Given the description of an element on the screen output the (x, y) to click on. 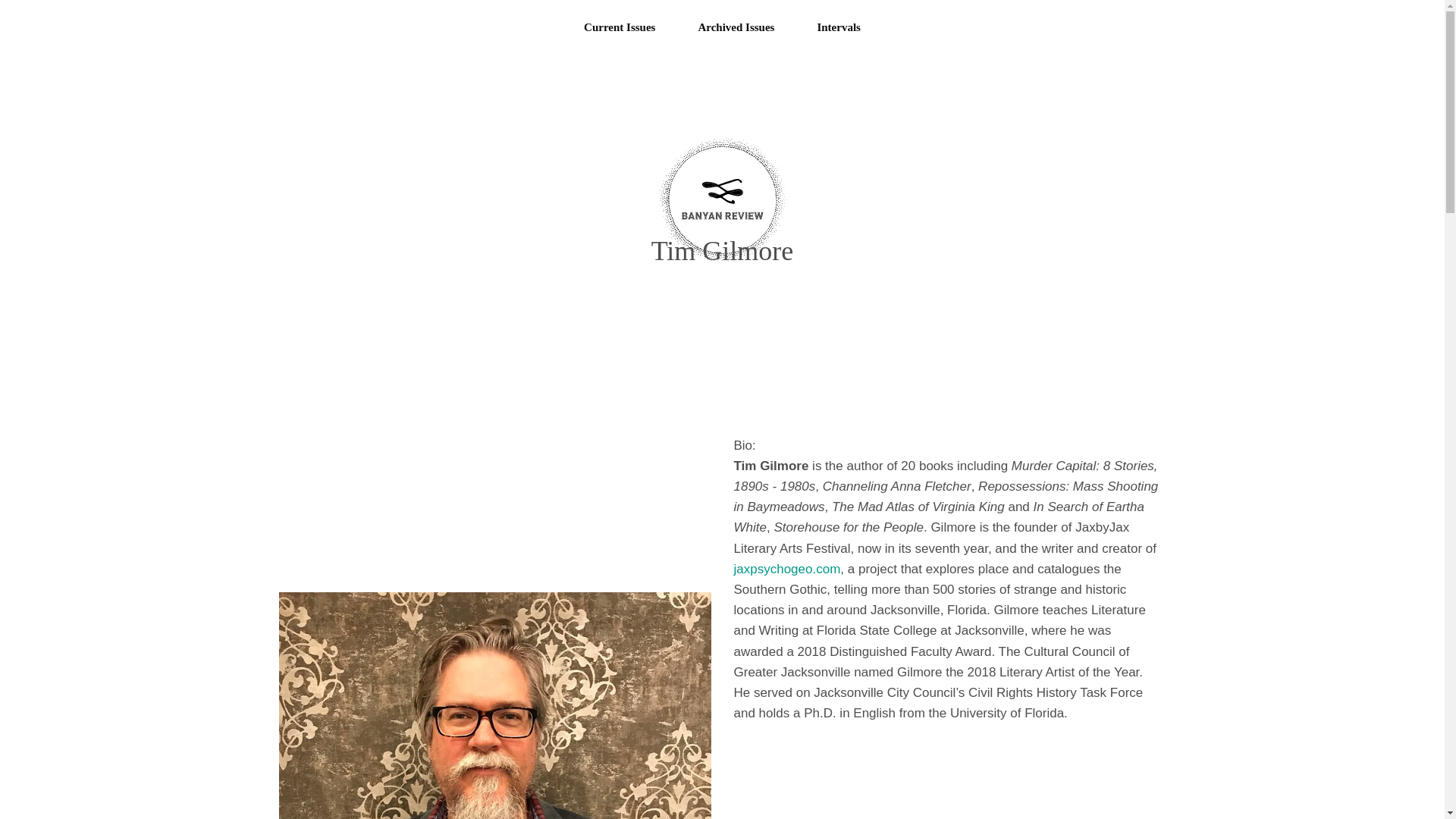
jaxpsychogeo.com (787, 569)
Current Issues (619, 26)
Archived Issues (735, 26)
Intervals (838, 26)
